Given the description of an element on the screen output the (x, y) to click on. 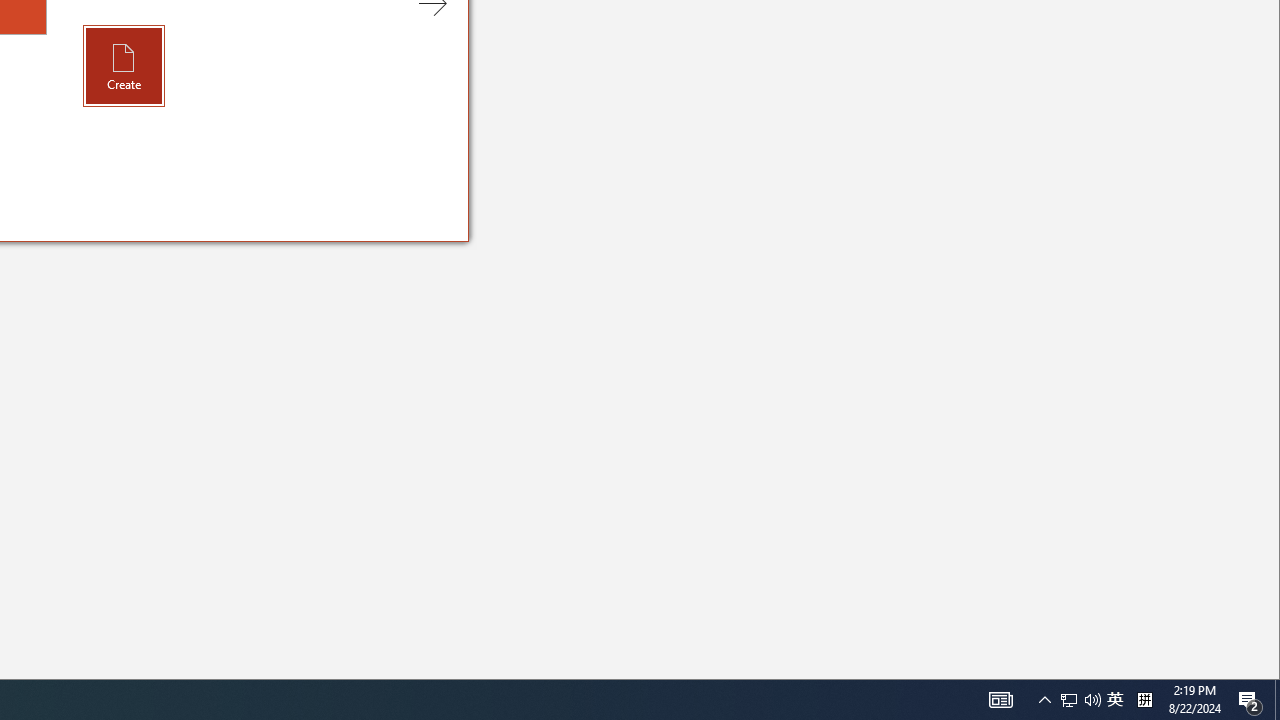
Action Center, 2 new notifications (1250, 699)
Create (1115, 699)
